Given the description of an element on the screen output the (x, y) to click on. 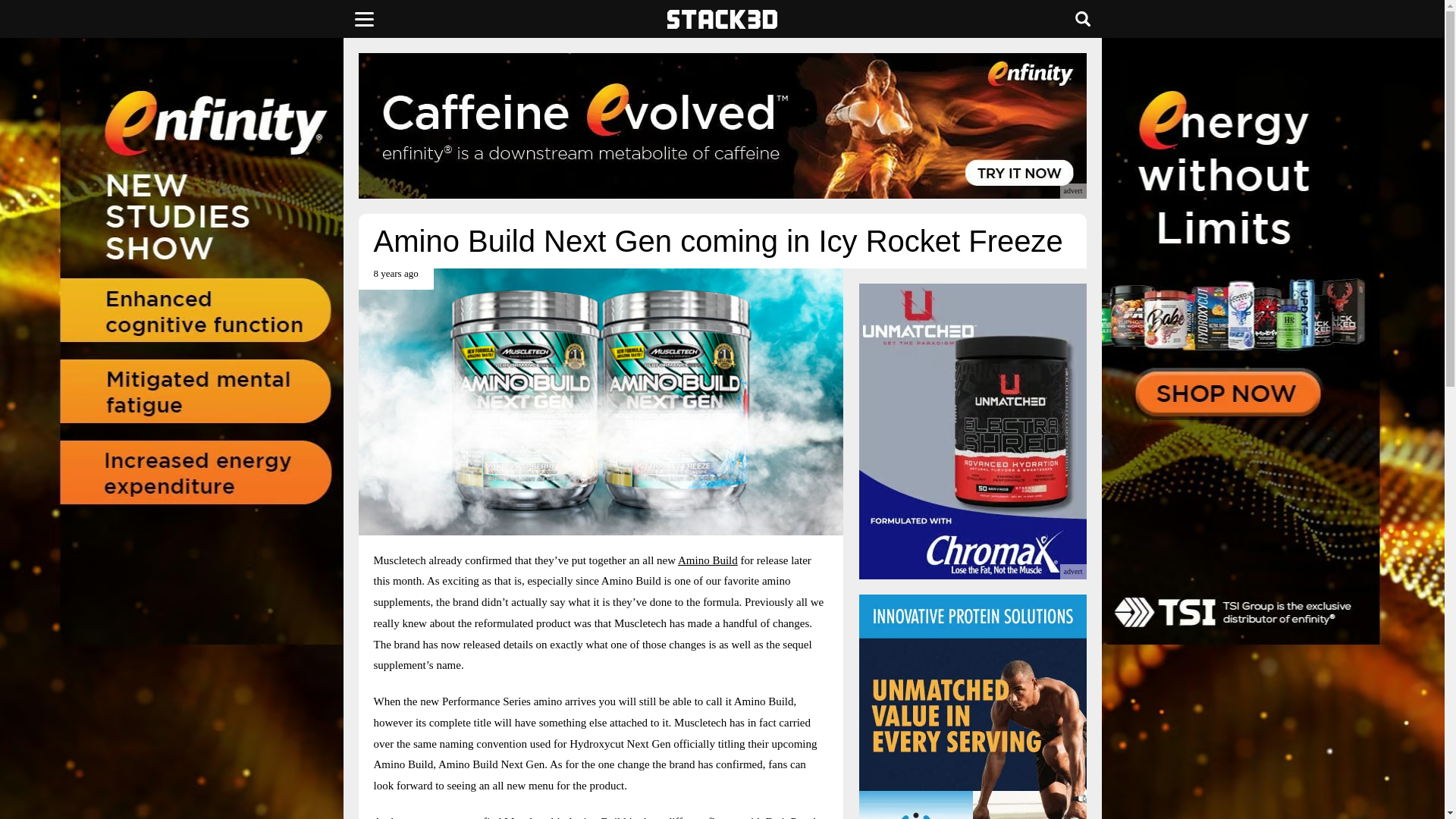
Amino Build (708, 560)
September 3rd 2015 (395, 278)
